Given the description of an element on the screen output the (x, y) to click on. 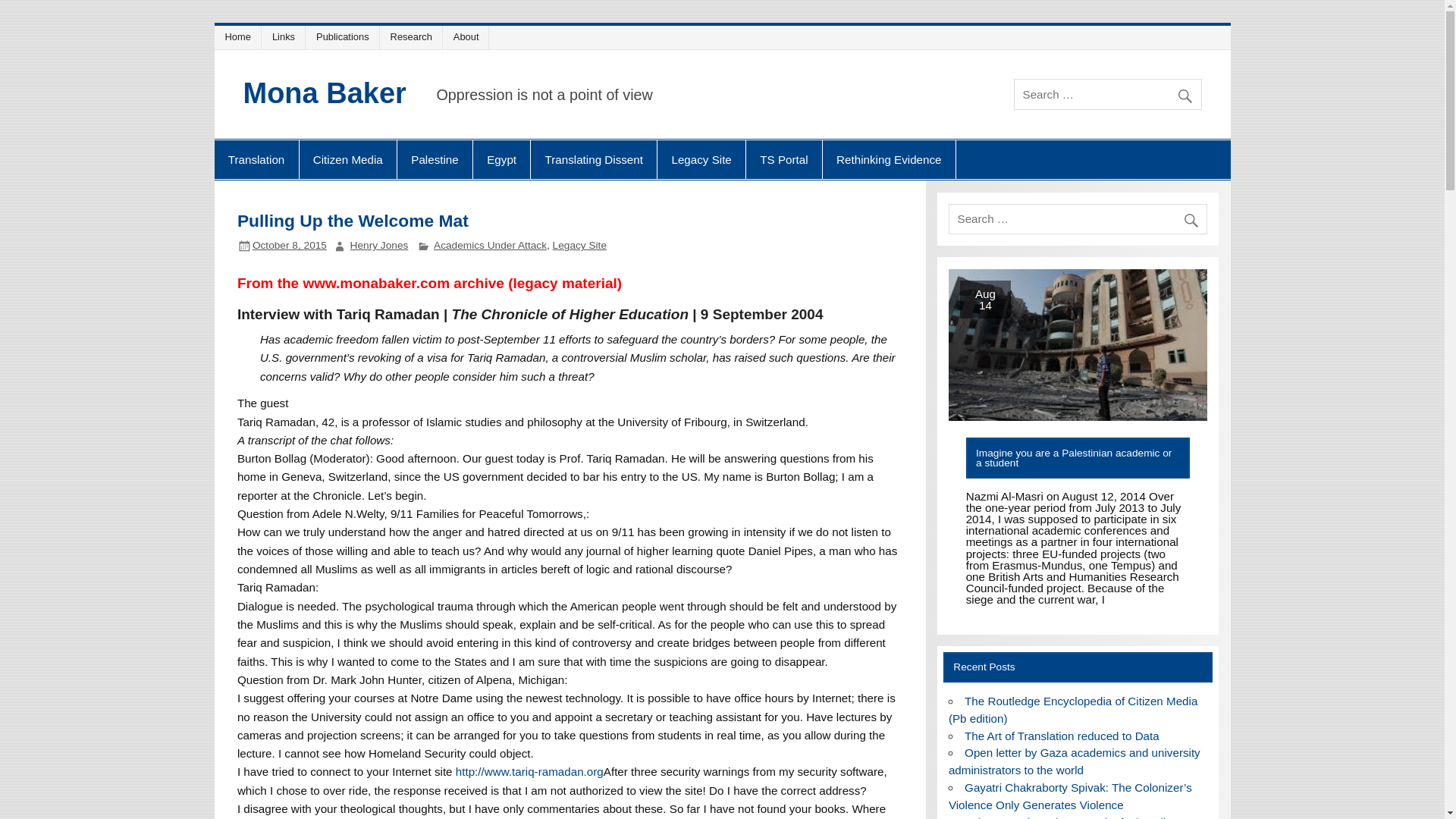
4:42 pm (288, 244)
Links (285, 37)
About (467, 37)
Publications (344, 37)
Translation (256, 159)
Home (239, 37)
Palestine (434, 159)
Mona Baker (324, 92)
Citizen Media (347, 159)
View all posts by Henry Jones (379, 244)
